Given the description of an element on the screen output the (x, y) to click on. 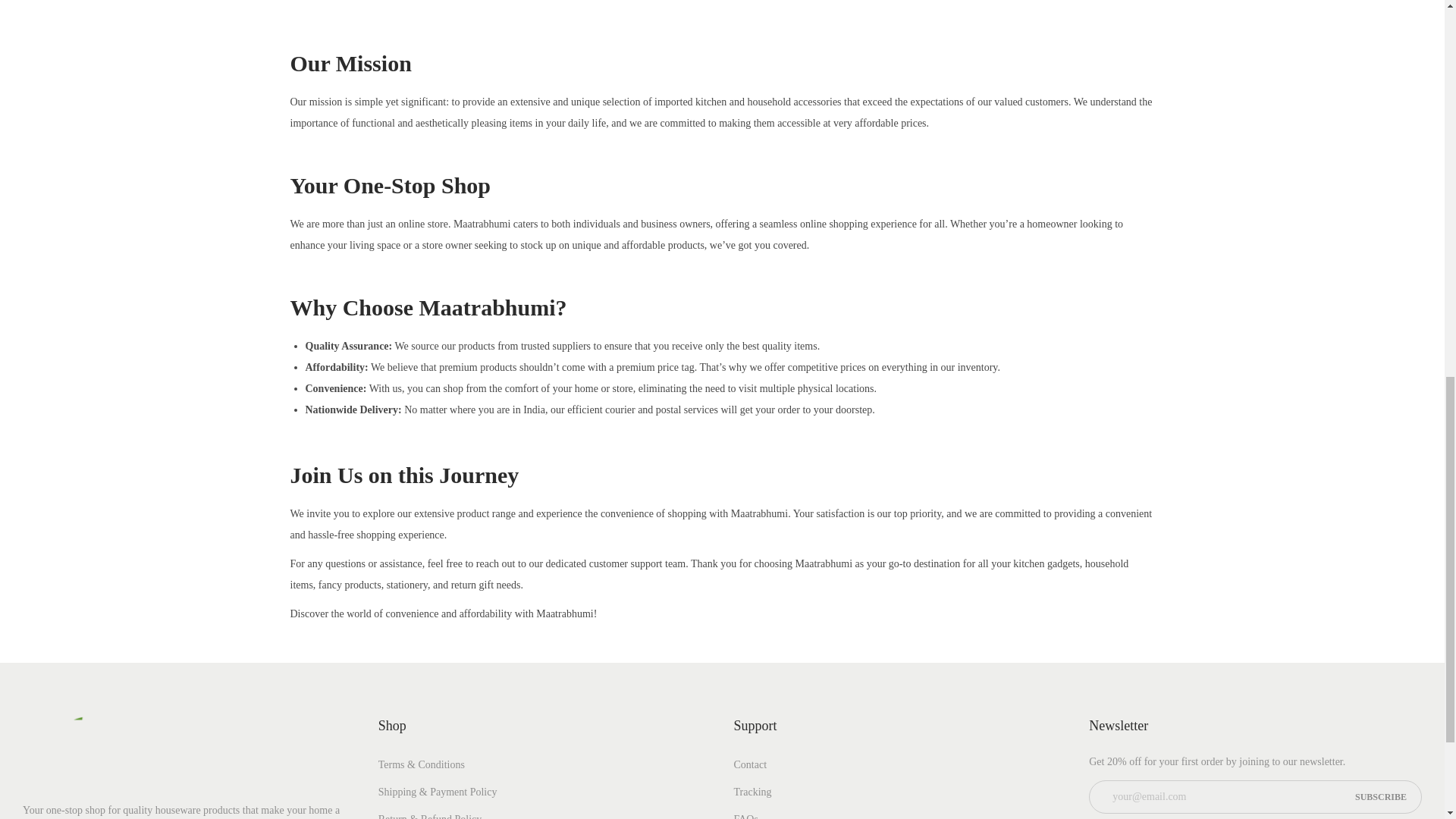
Contact (750, 764)
Subscribe (1380, 797)
Tracking (752, 791)
Subscribe (1380, 797)
FAQs (745, 816)
